Given the description of an element on the screen output the (x, y) to click on. 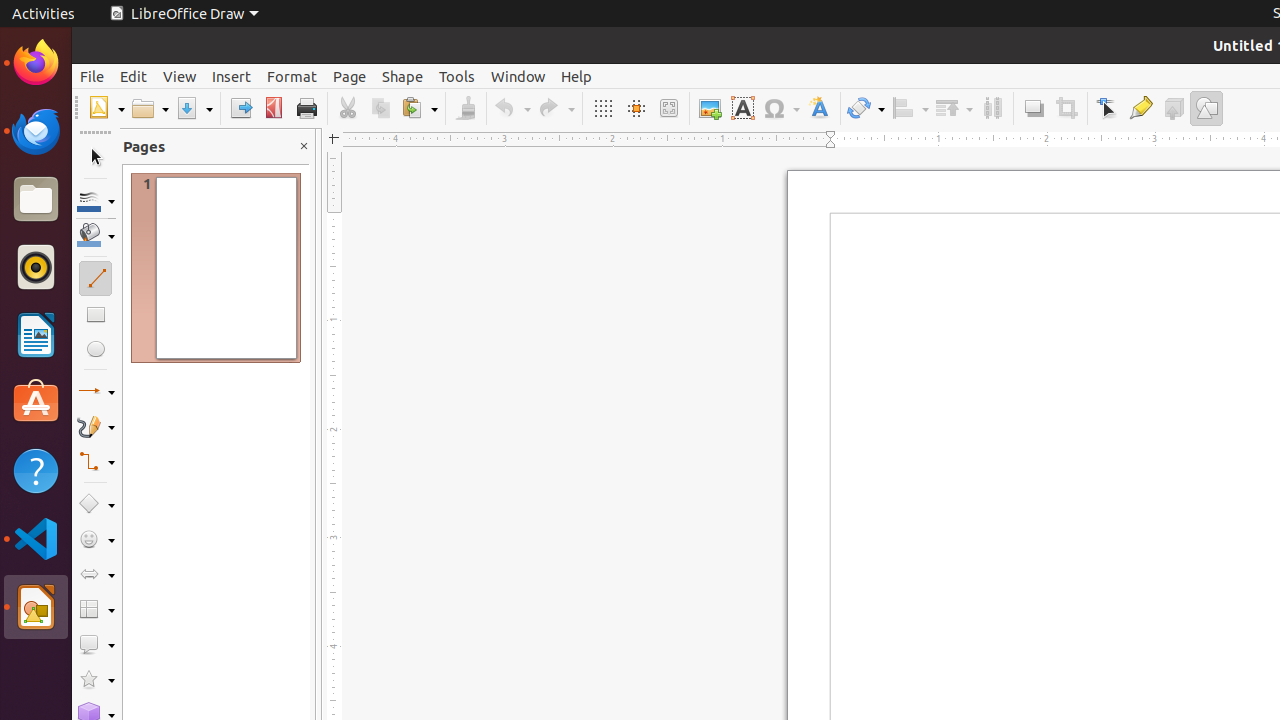
Glue Points Element type: push-button (1140, 108)
Symbol Element type: push-button (781, 108)
Window Element type: menu (518, 76)
Format Element type: menu (292, 76)
Print Element type: push-button (306, 108)
